Given the description of an element on the screen output the (x, y) to click on. 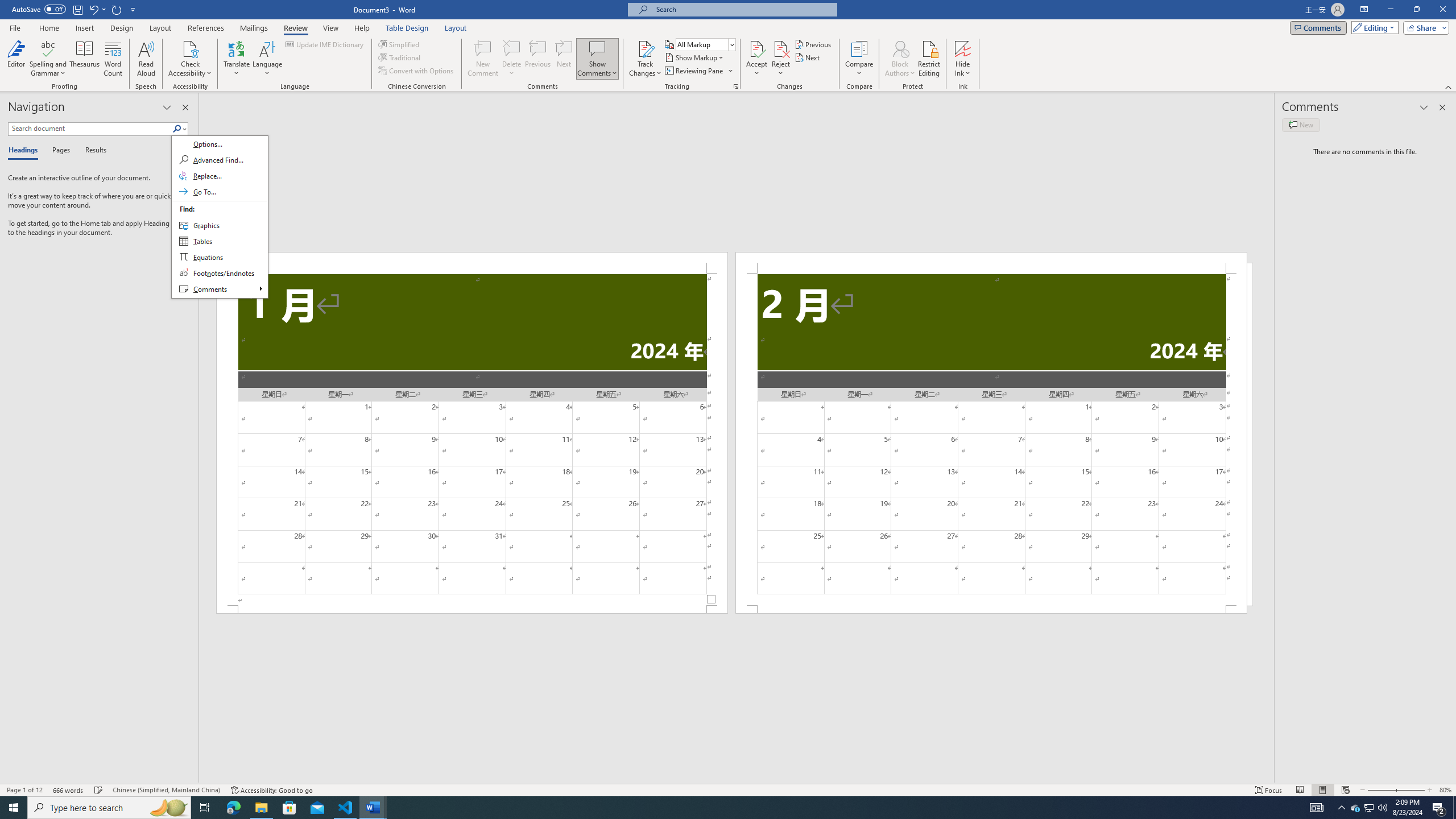
Convert with Options... (417, 69)
Read Aloud (145, 58)
Accept (756, 58)
Page Number Page 1 of 12 (24, 790)
Page 2 content (991, 439)
Undo Increase Indent (92, 9)
